Given the description of an element on the screen output the (x, y) to click on. 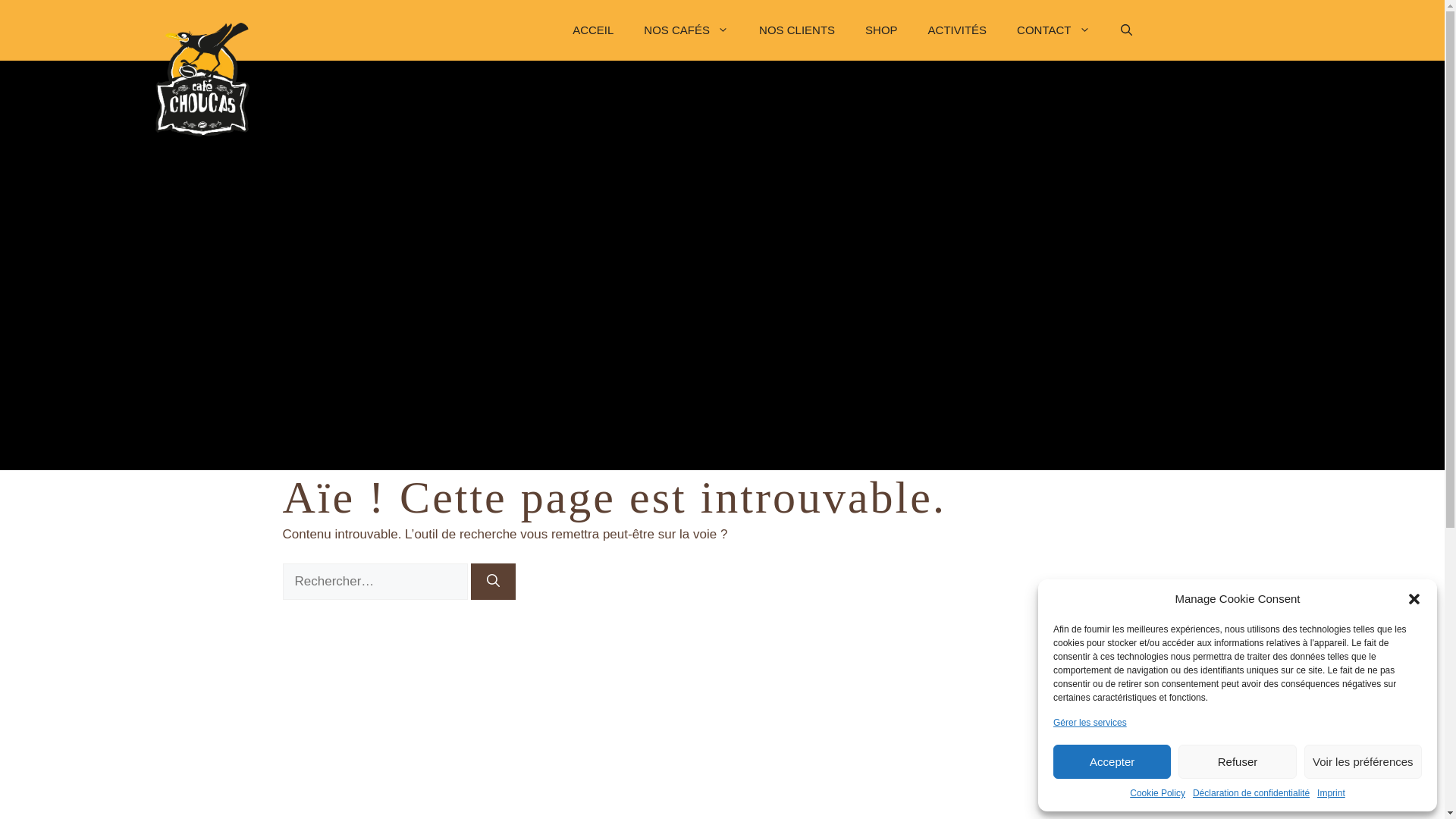
Site Logo Element type: hover (202, 79)
Cookie Policy Element type: text (1157, 793)
ACCEIL Element type: text (592, 30)
Refuser Element type: text (1236, 761)
CONTACT Element type: text (1052, 30)
NOS CLIENTS Element type: text (796, 30)
Accepter Element type: text (1111, 761)
Imprint Element type: text (1331, 793)
SHOP Element type: text (881, 30)
